Given the description of an element on the screen output the (x, y) to click on. 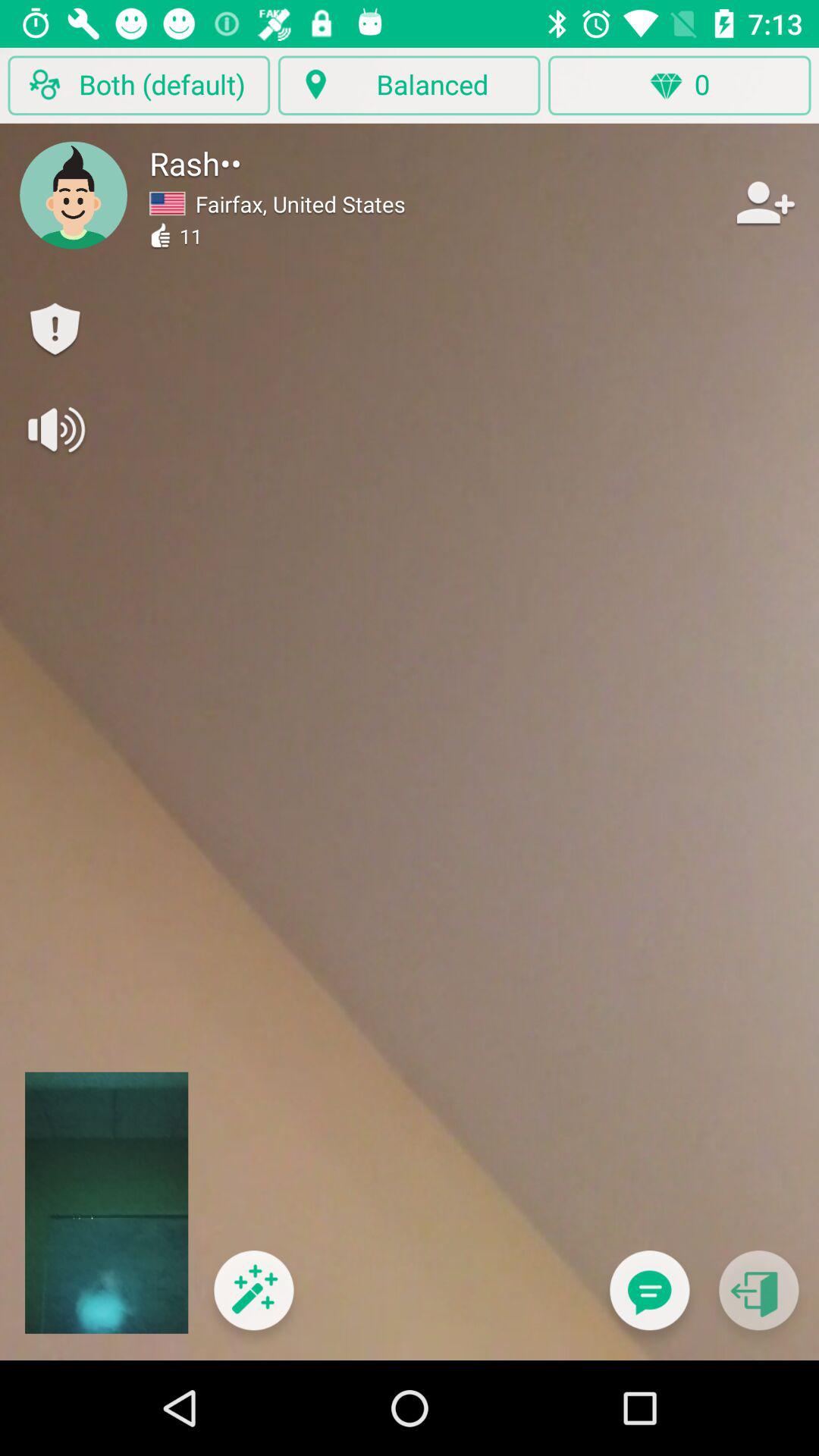
tap the item below the 11 item (253, 1300)
